Given the description of an element on the screen output the (x, y) to click on. 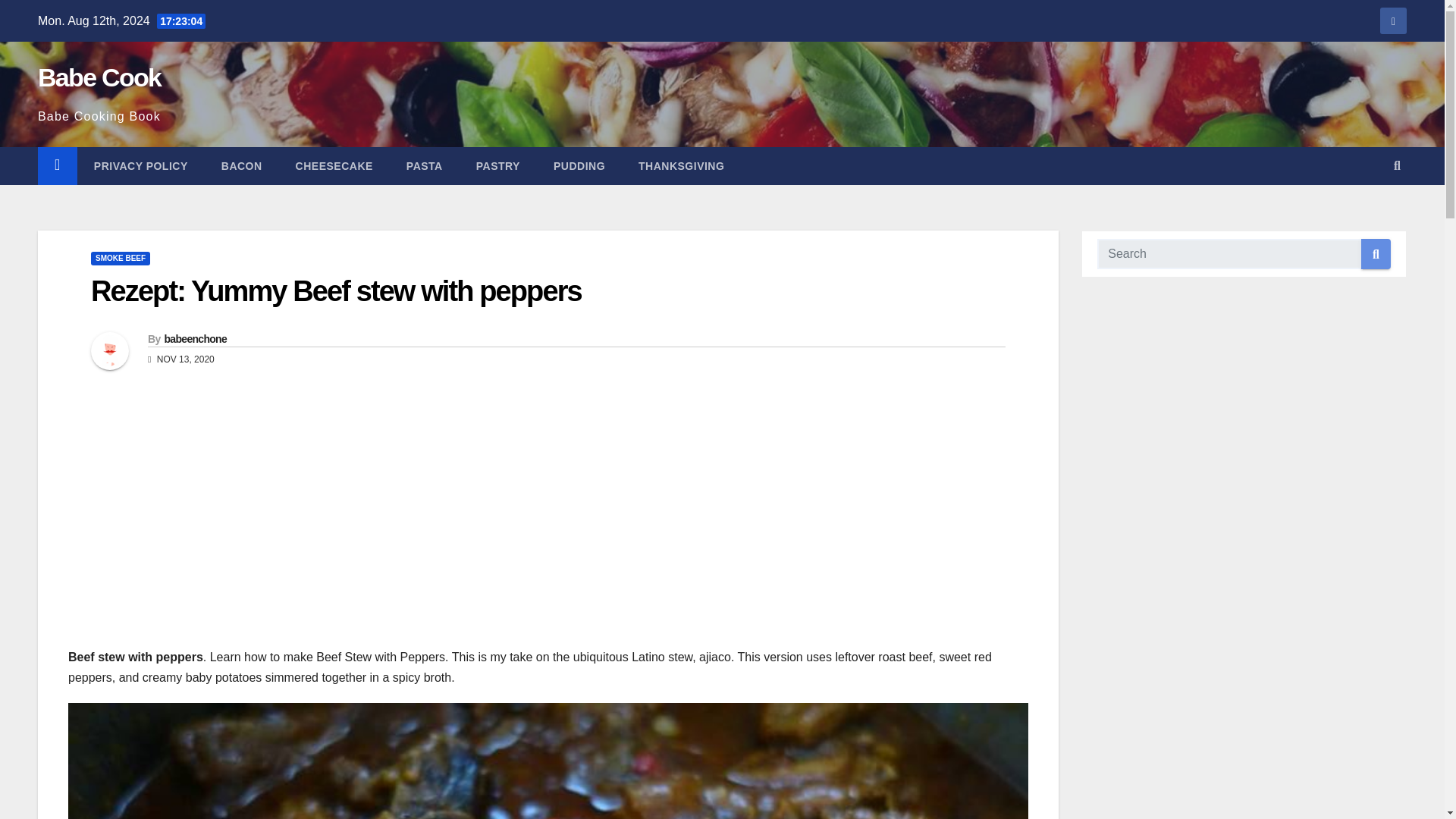
Cheesecake (334, 166)
THANKSGIVING (681, 166)
Permalink to: Rezept: Yummy Beef stew with peppers (335, 291)
Rezept: Yummy Beef stew with peppers (335, 291)
babeenchone (195, 338)
BACON (242, 166)
PUDDING (579, 166)
Babe Cook (98, 77)
CHEESECAKE (334, 166)
PRIVACY POLICY (141, 166)
